Given the description of an element on the screen output the (x, y) to click on. 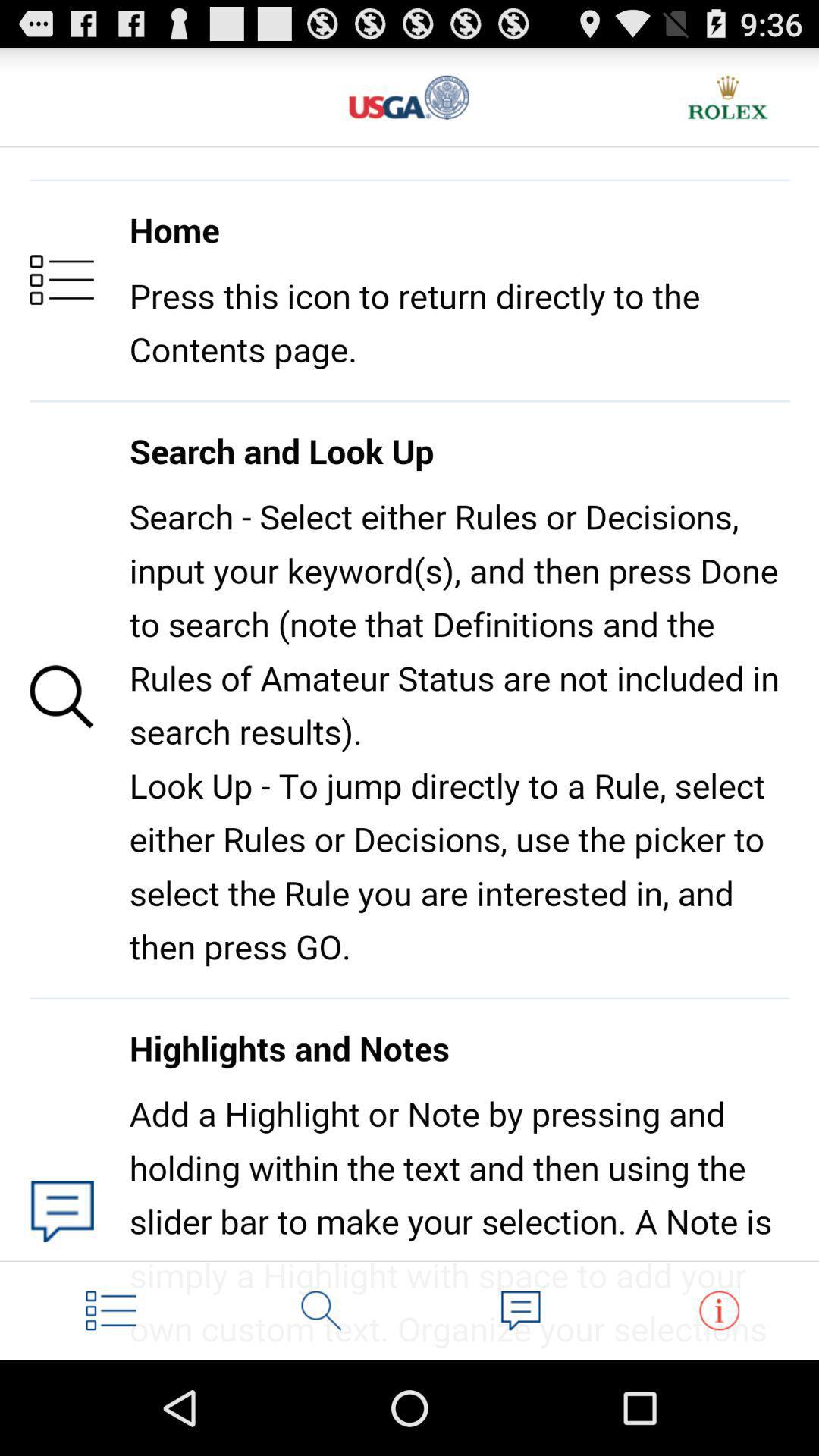
usga latest golf rules (409, 97)
